Given the description of an element on the screen output the (x, y) to click on. 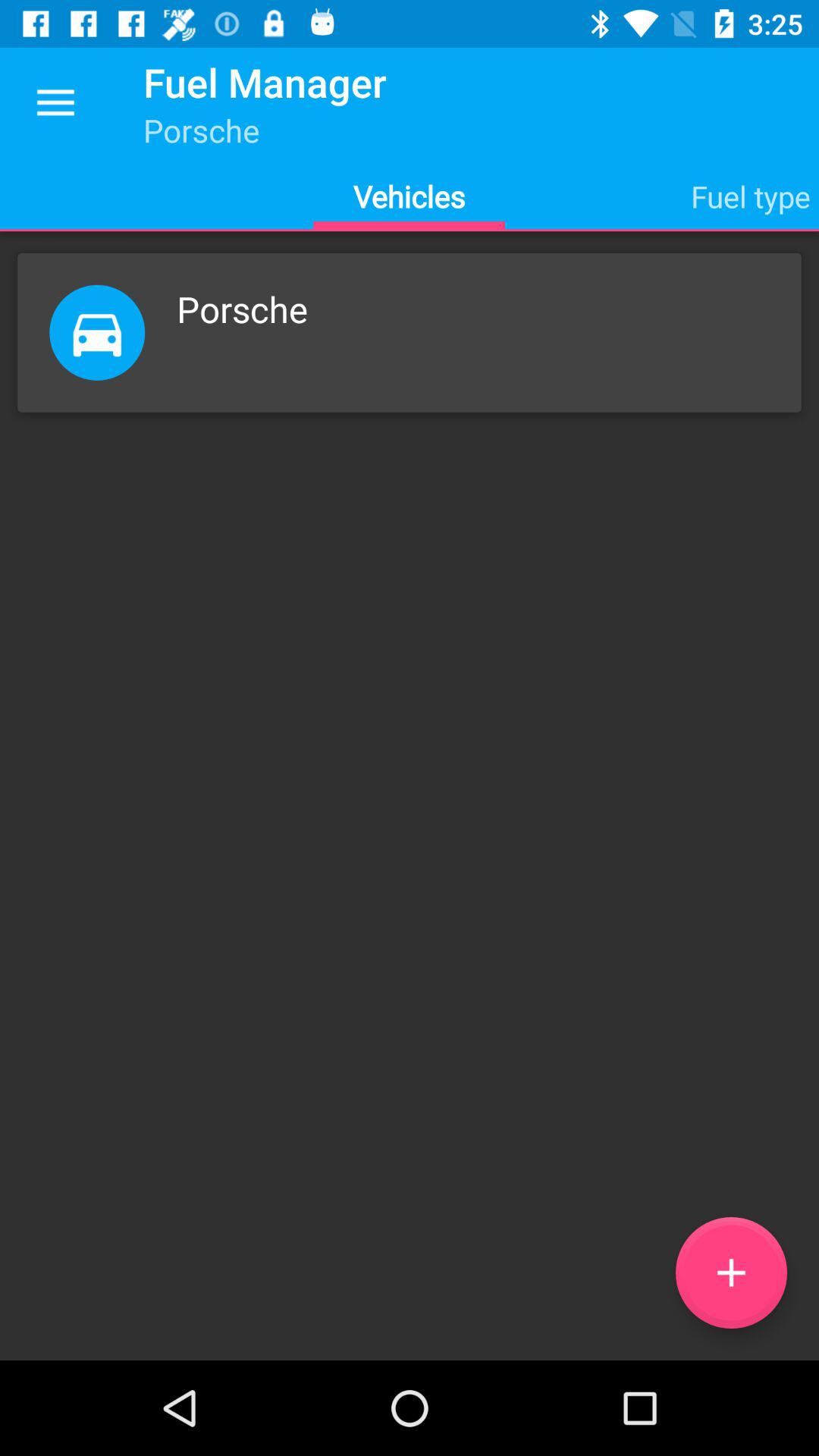
add more vehicles option (731, 1272)
